Given the description of an element on the screen output the (x, y) to click on. 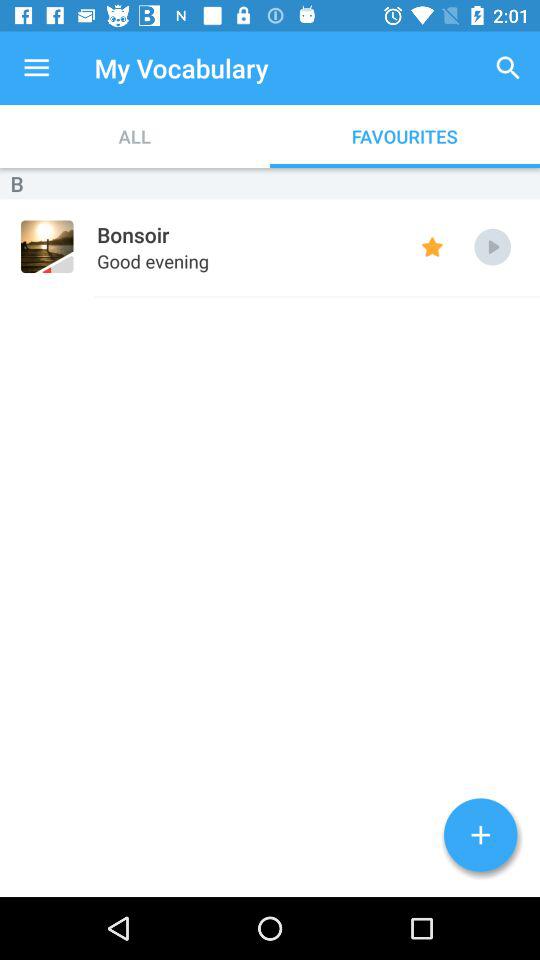
add item (480, 835)
